Given the description of an element on the screen output the (x, y) to click on. 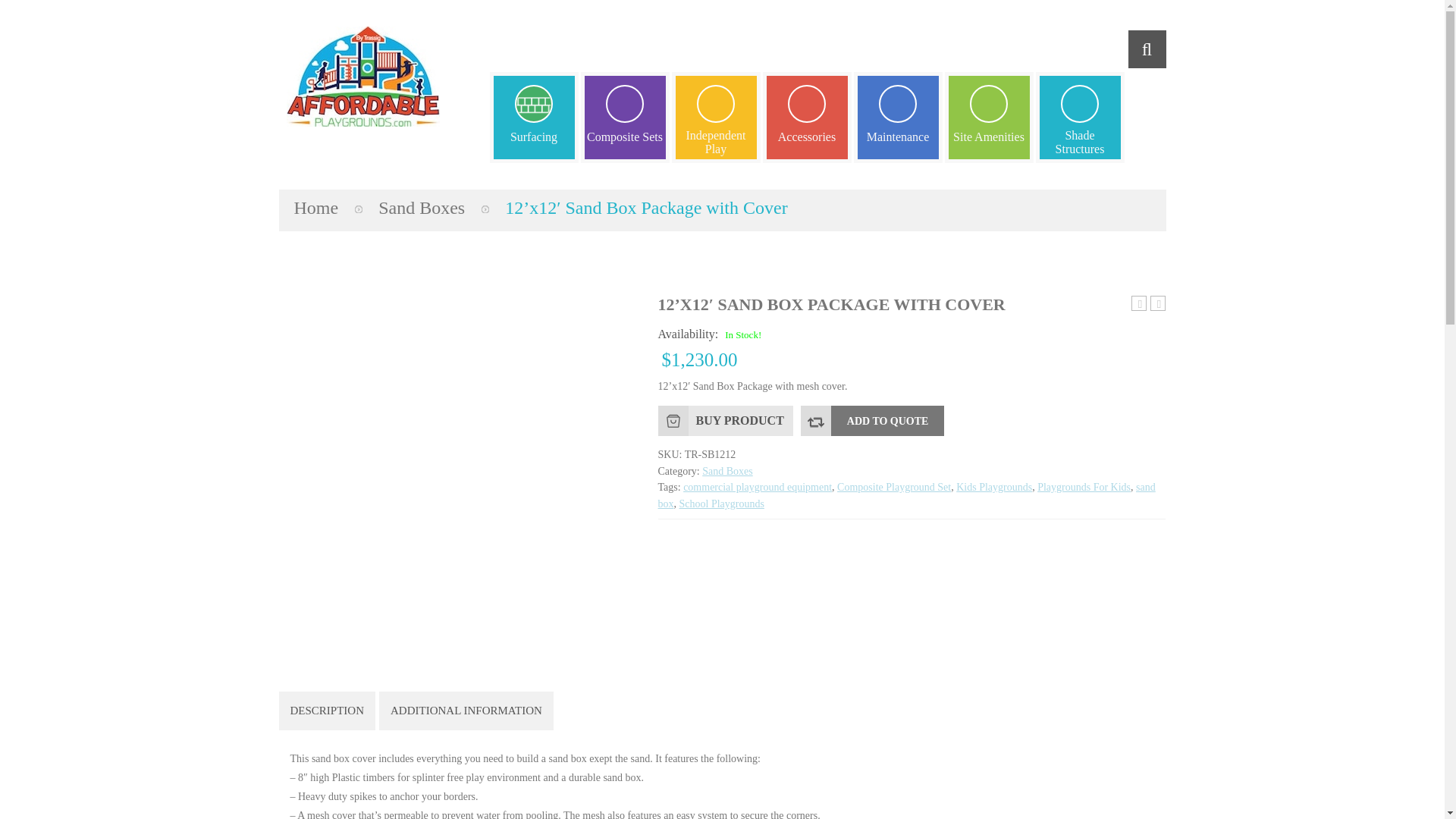
Affordable Playgrounds By Trassig (362, 76)
Composite Sets (624, 117)
Independent Play (715, 117)
Sand Boxes (421, 207)
Surfacing (533, 117)
Accessories (806, 117)
Home (316, 207)
Maintenance (897, 117)
